Given the description of an element on the screen output the (x, y) to click on. 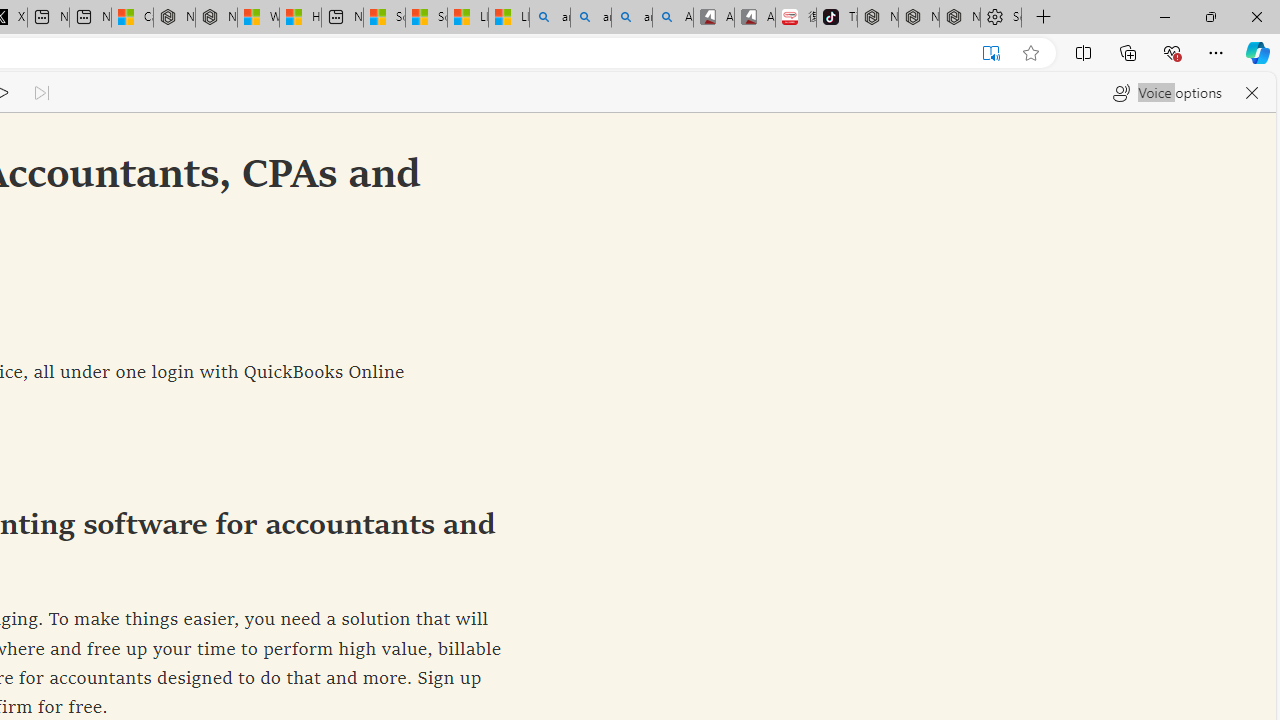
Nordace - Siena Pro 15 Essential Set (959, 17)
Nordace Siena Pro 15 Backpack (918, 17)
Exit Immersive Reader (F9) (991, 53)
Read next paragraph (41, 92)
